Given the description of an element on the screen output the (x, y) to click on. 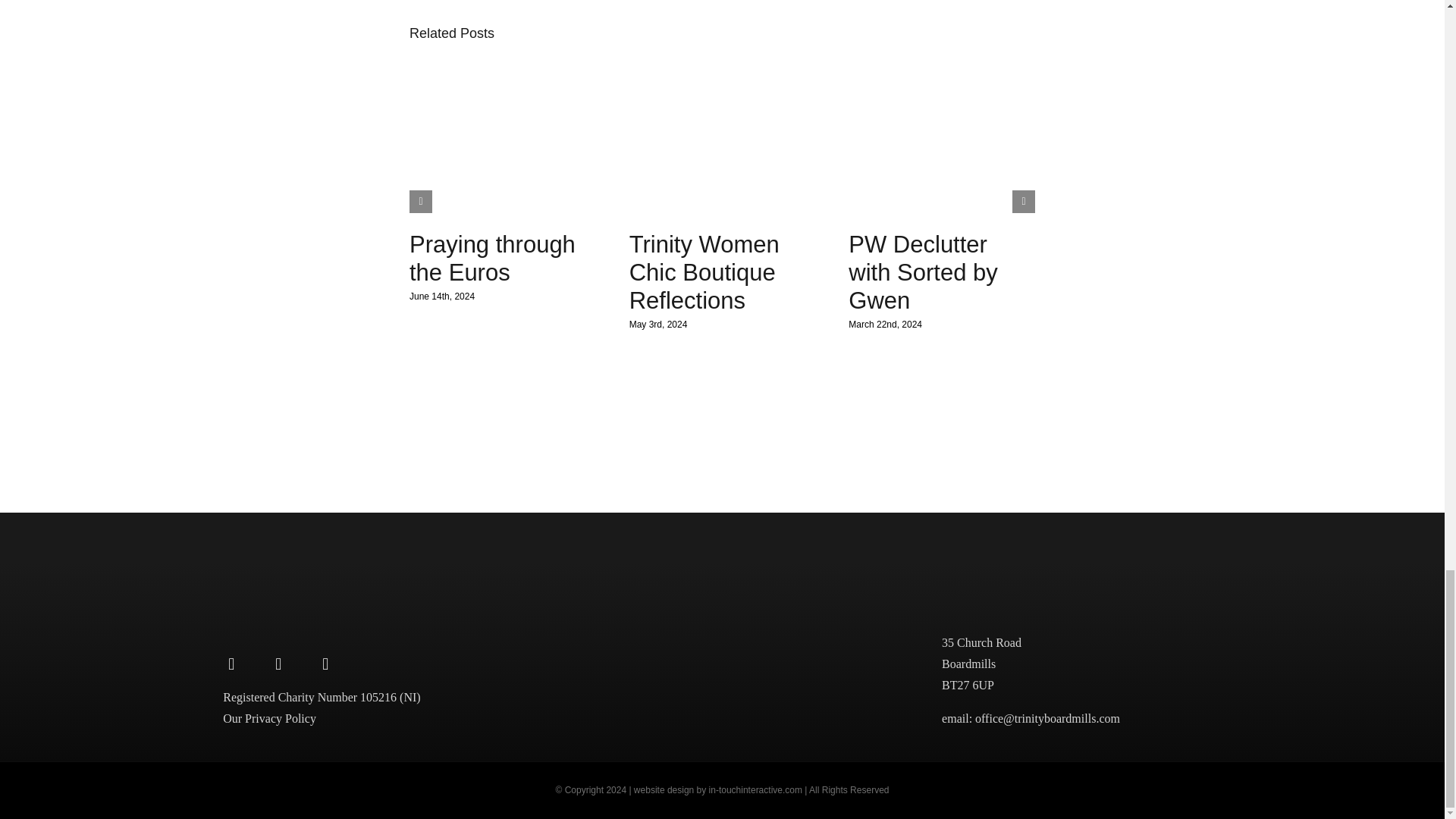
Praying through the Euros (492, 257)
Praying through the Euros (492, 257)
Facebook (230, 663)
PW Declutter with Sorted by Gwen (922, 271)
Trinity Women Chic Boutique Reflections (703, 271)
Instagram (278, 663)
Trinity Women Chic Boutique Reflections (703, 271)
PW Declutter with Sorted by Gwen (922, 271)
